Given the description of an element on the screen output the (x, y) to click on. 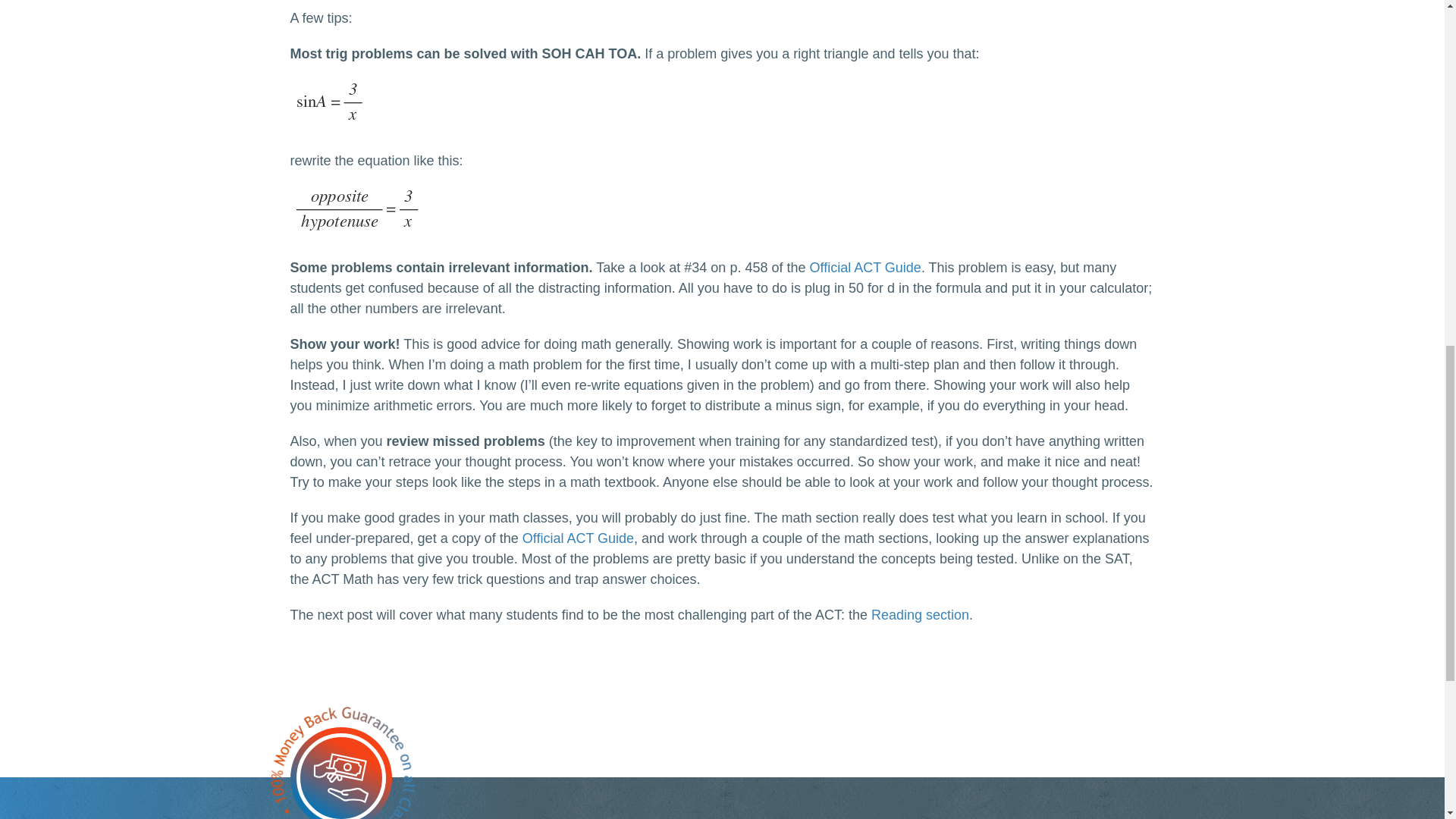
The ACT Part 4: Reading (919, 614)
